Given the description of an element on the screen output the (x, y) to click on. 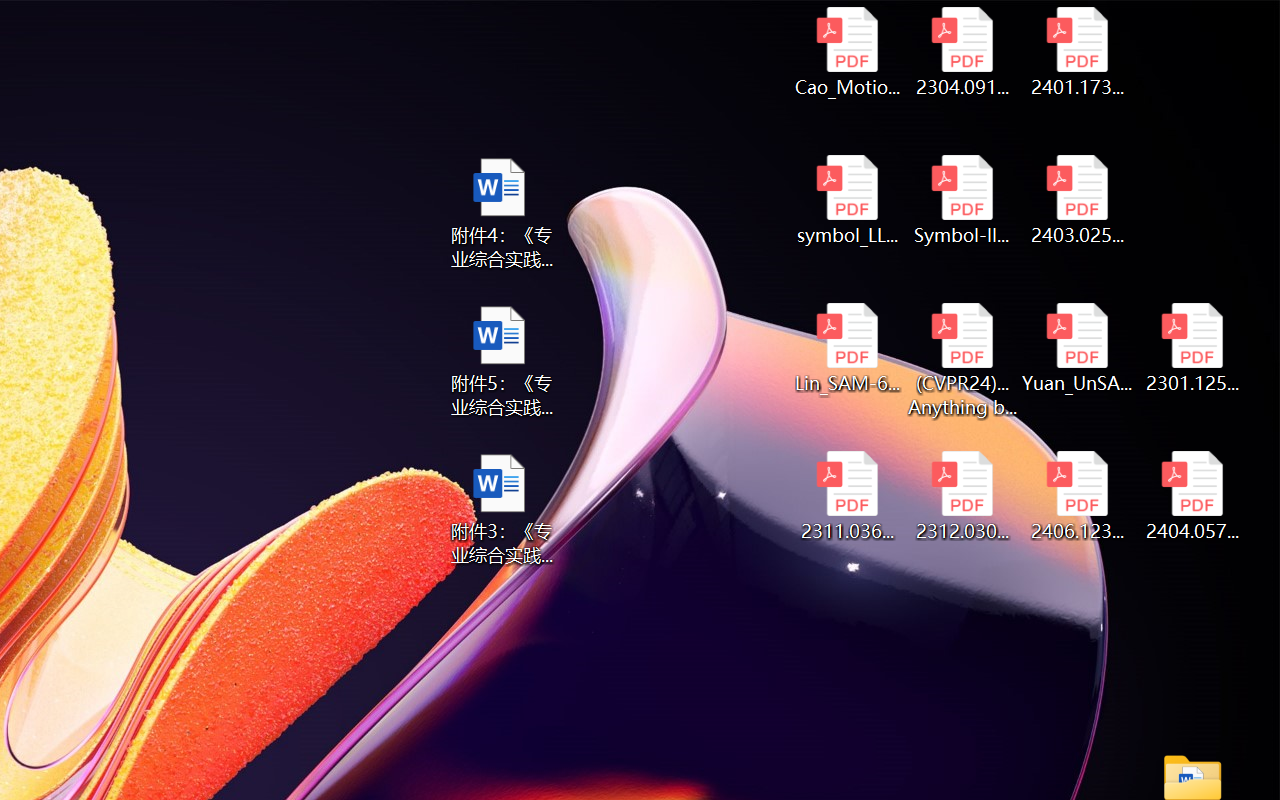
2311.03658v2.pdf (846, 496)
(CVPR24)Matching Anything by Segmenting Anything.pdf (962, 360)
2406.12373v2.pdf (1077, 496)
Symbol-llm-v2.pdf (962, 200)
2304.09121v3.pdf (962, 52)
symbol_LLM.pdf (846, 200)
2403.02502v1.pdf (1077, 200)
2301.12597v3.pdf (1192, 348)
2401.17399v1.pdf (1077, 52)
2312.03032v2.pdf (962, 496)
